Given the description of an element on the screen output the (x, y) to click on. 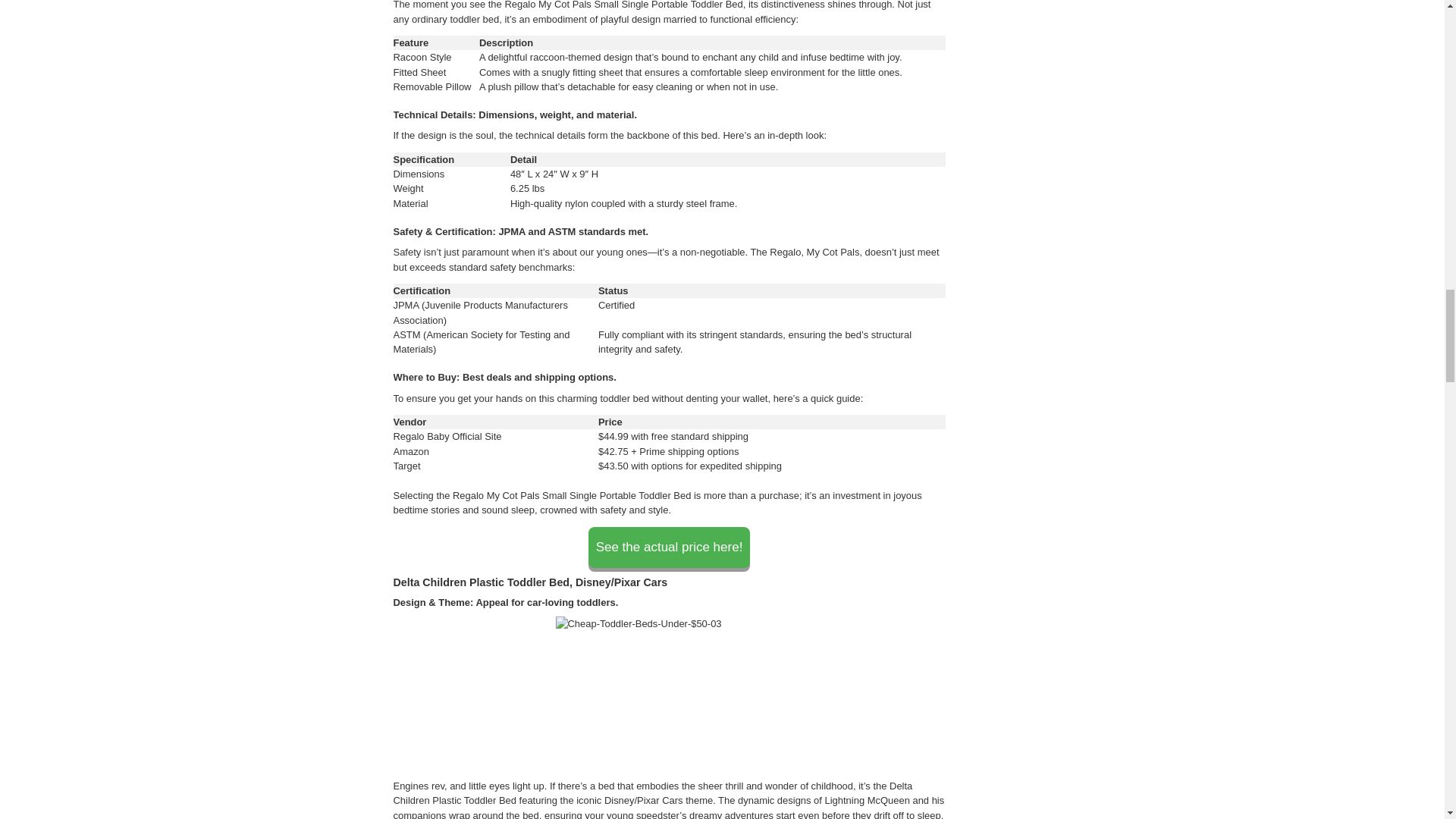
See the actual price here! (669, 547)
See the actual price here! (669, 547)
